Given the description of an element on the screen output the (x, y) to click on. 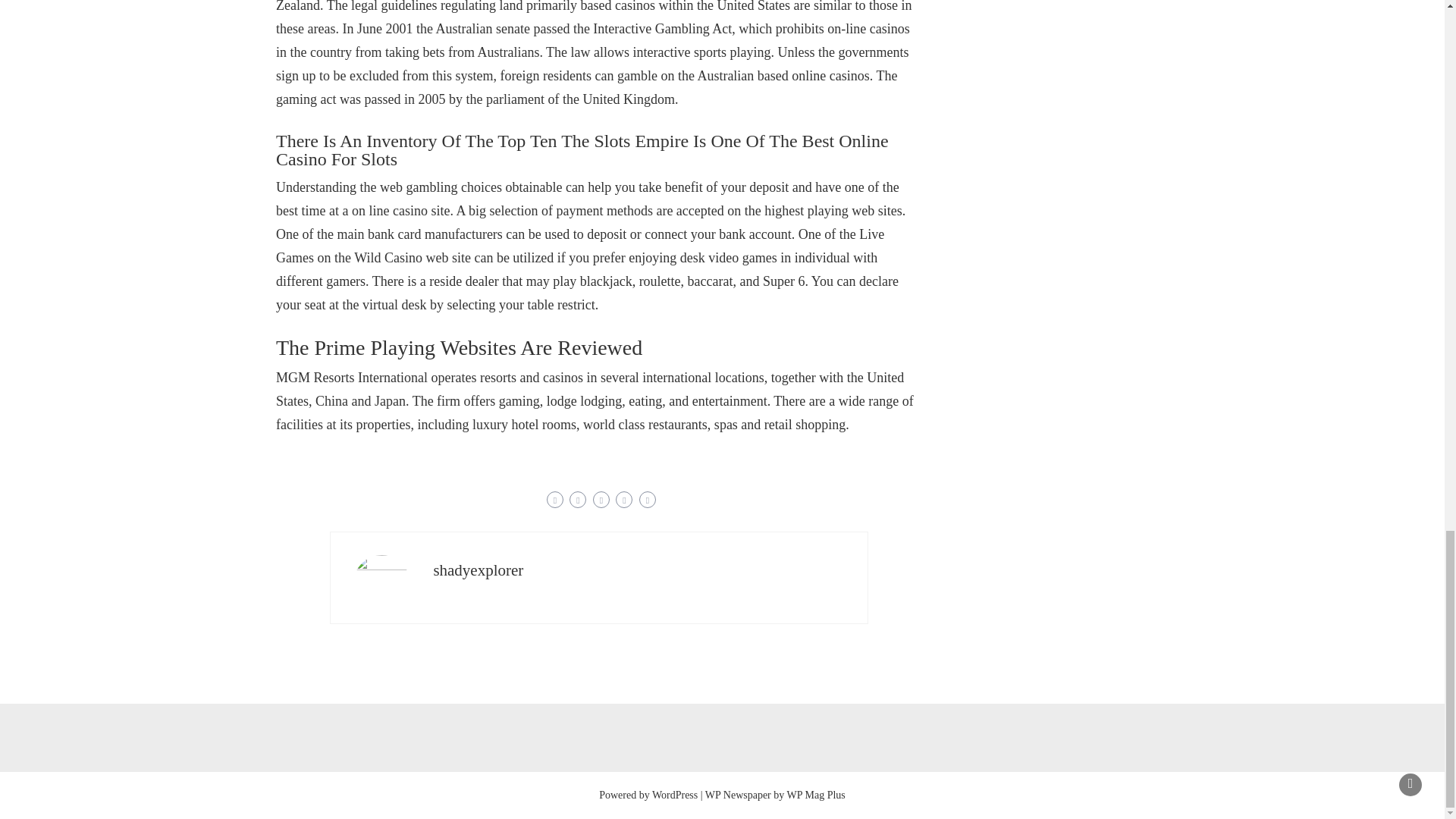
WP Newspaper by WP Mag Plus (774, 794)
shadyexplorer (477, 570)
WordPress (674, 794)
